Given the description of an element on the screen output the (x, y) to click on. 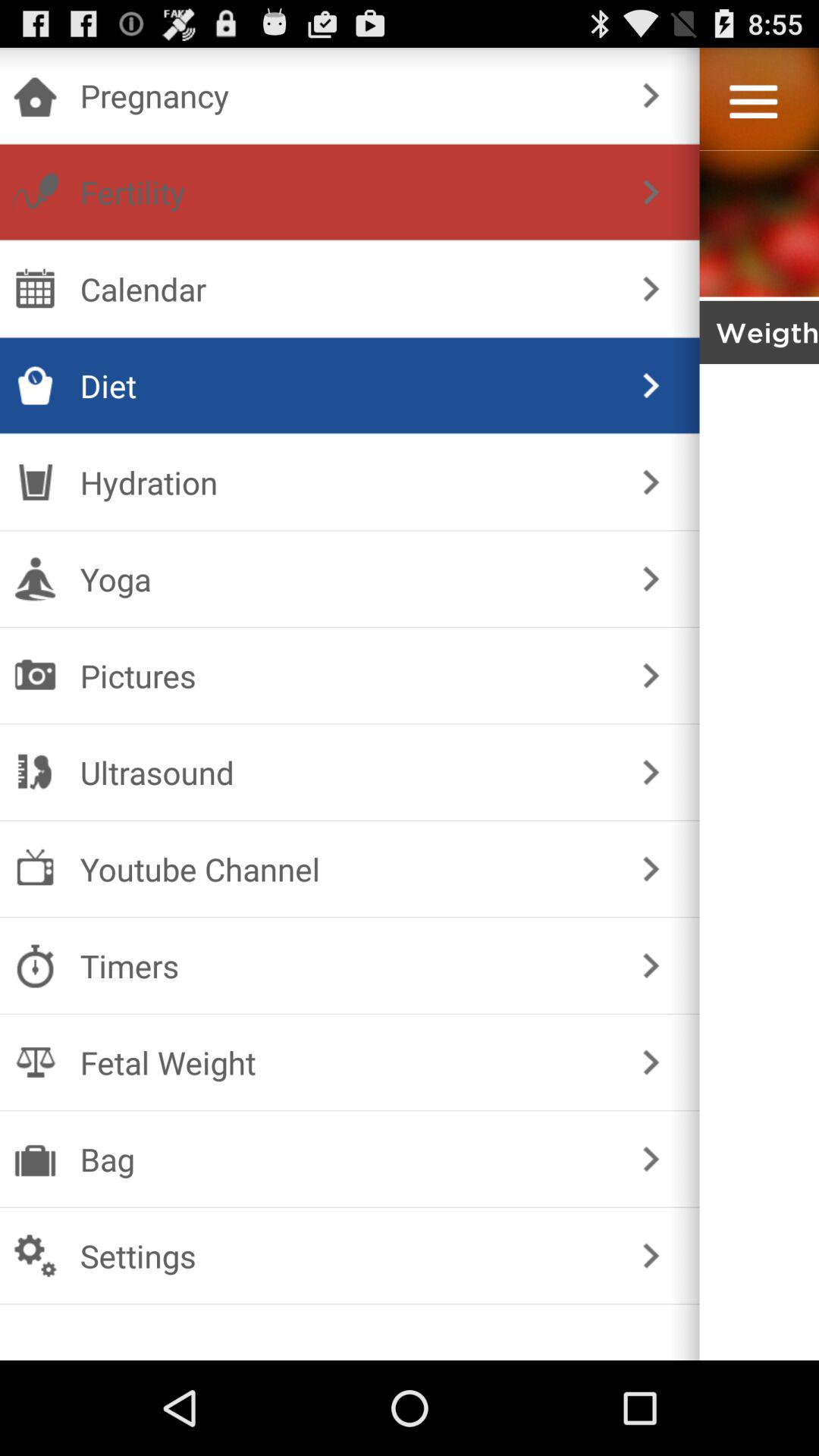
select settings icon (346, 1255)
